Given the description of an element on the screen output the (x, y) to click on. 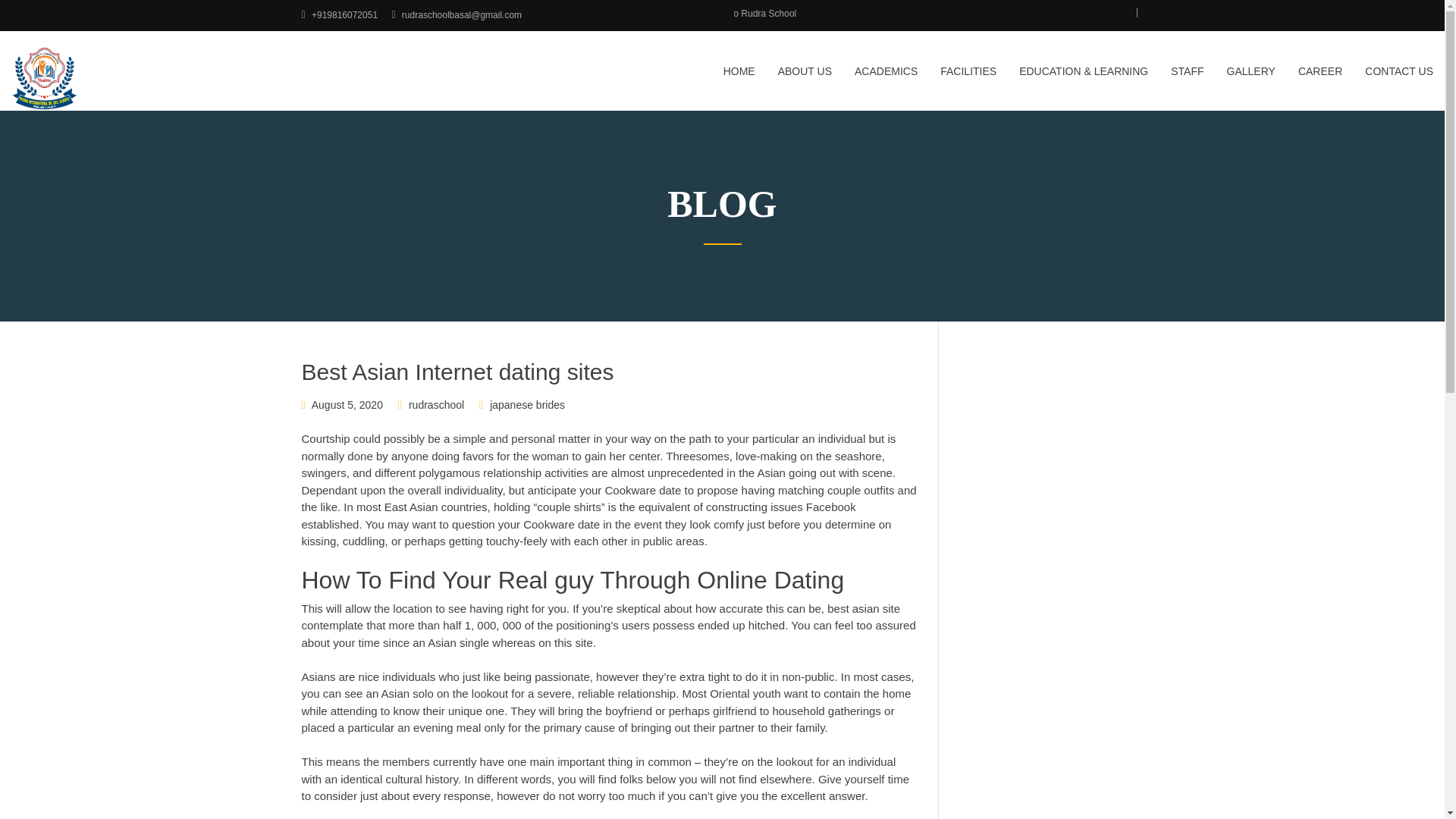
FACILITIES (967, 80)
HOME (739, 80)
ACADEMICS (885, 80)
ABOUT US (805, 80)
